Given the description of an element on the screen output the (x, y) to click on. 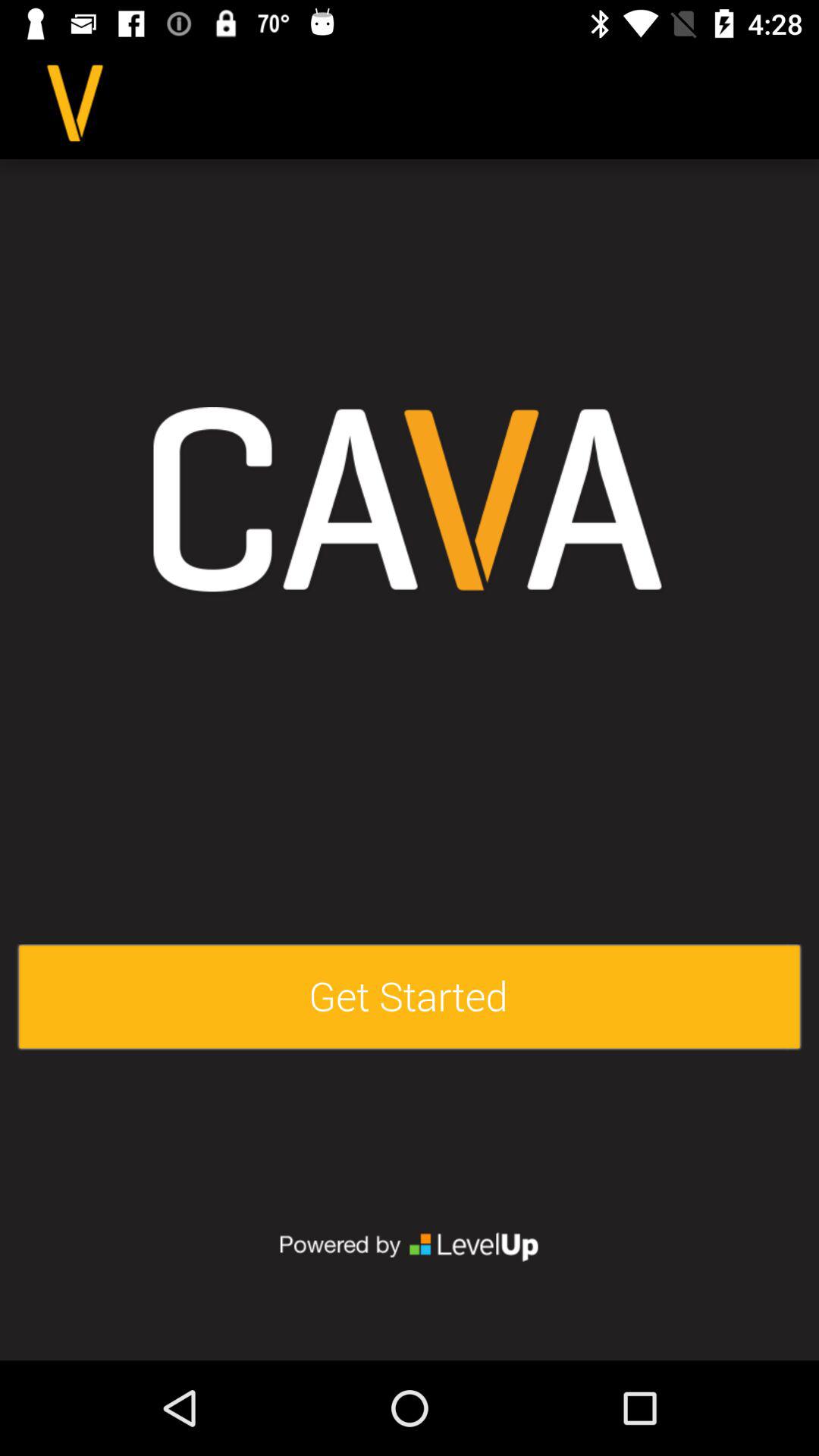
open get started item (409, 997)
